Given the description of an element on the screen output the (x, y) to click on. 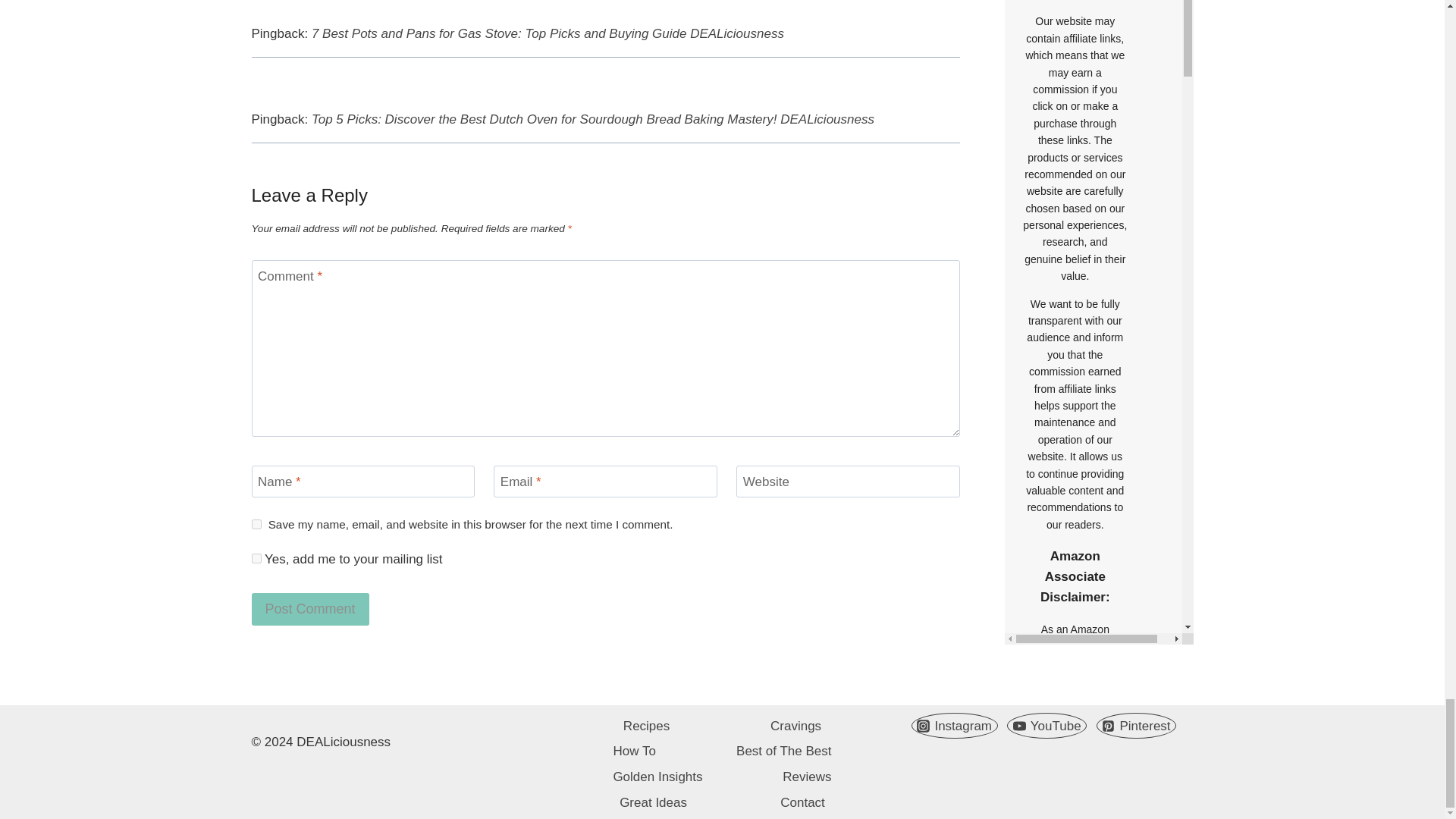
Post Comment (310, 608)
yes (256, 524)
1 (256, 558)
